Given the description of an element on the screen output the (x, y) to click on. 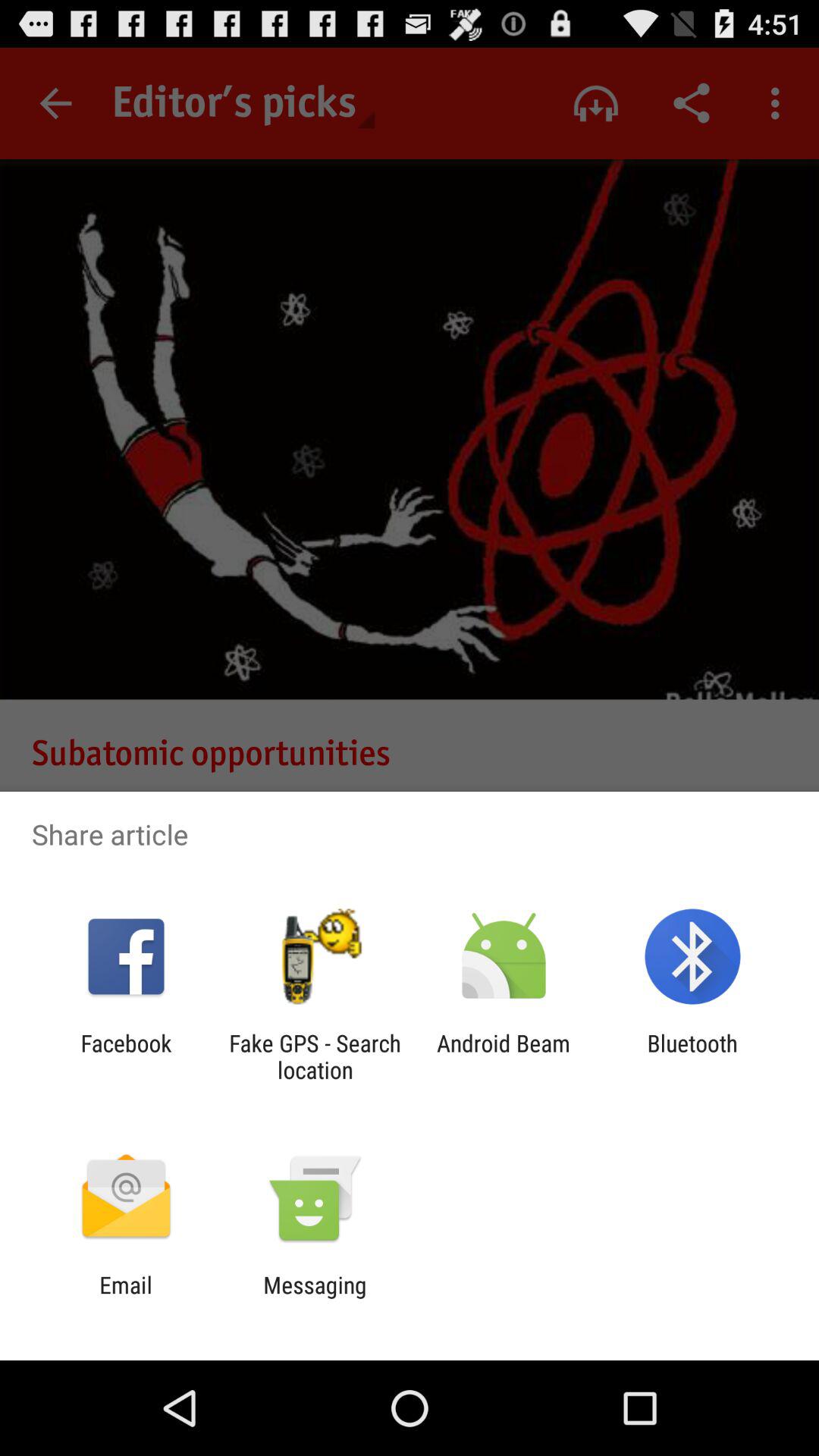
launch the email item (125, 1298)
